Given the description of an element on the screen output the (x, y) to click on. 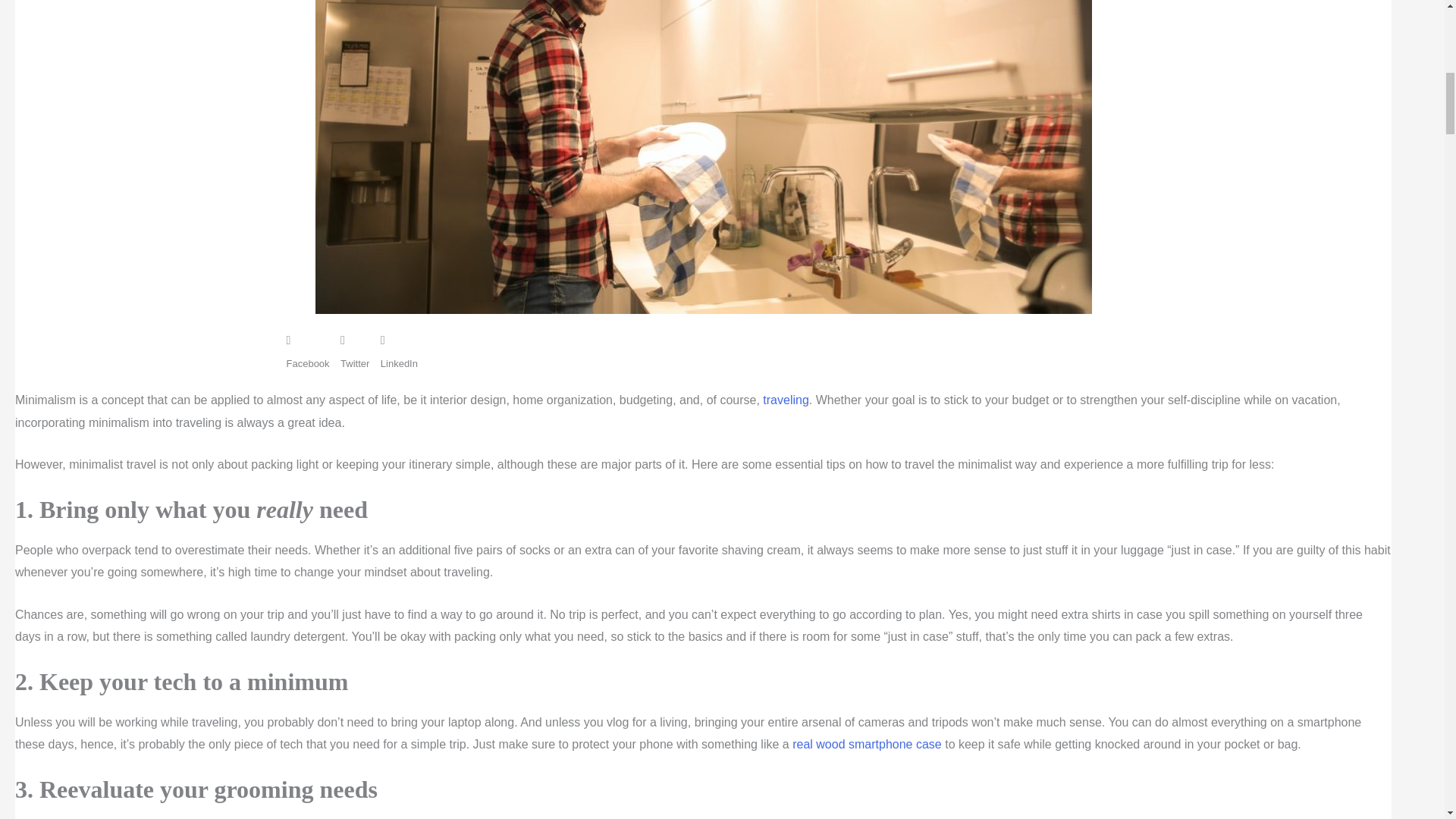
traveling (785, 399)
real wood smartphone case (867, 744)
